Given the description of an element on the screen output the (x, y) to click on. 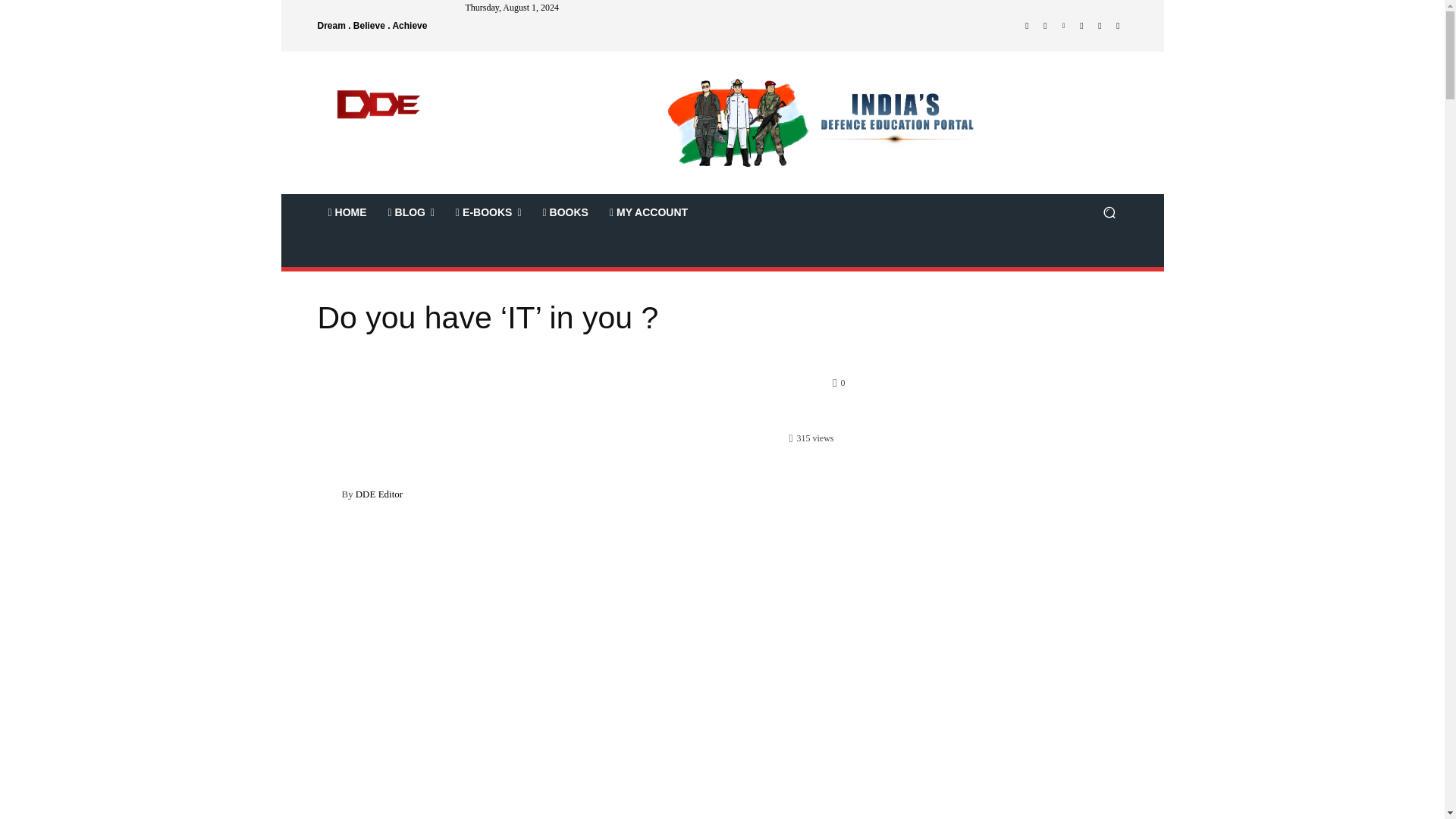
Facebook (1026, 25)
Pinterest (1062, 25)
Twitter (1099, 25)
Instagram (1044, 25)
HOME (347, 212)
Youtube (1117, 25)
E-BOOKS (488, 212)
Telegram (1080, 25)
BLOG (411, 212)
